Given the description of an element on the screen output the (x, y) to click on. 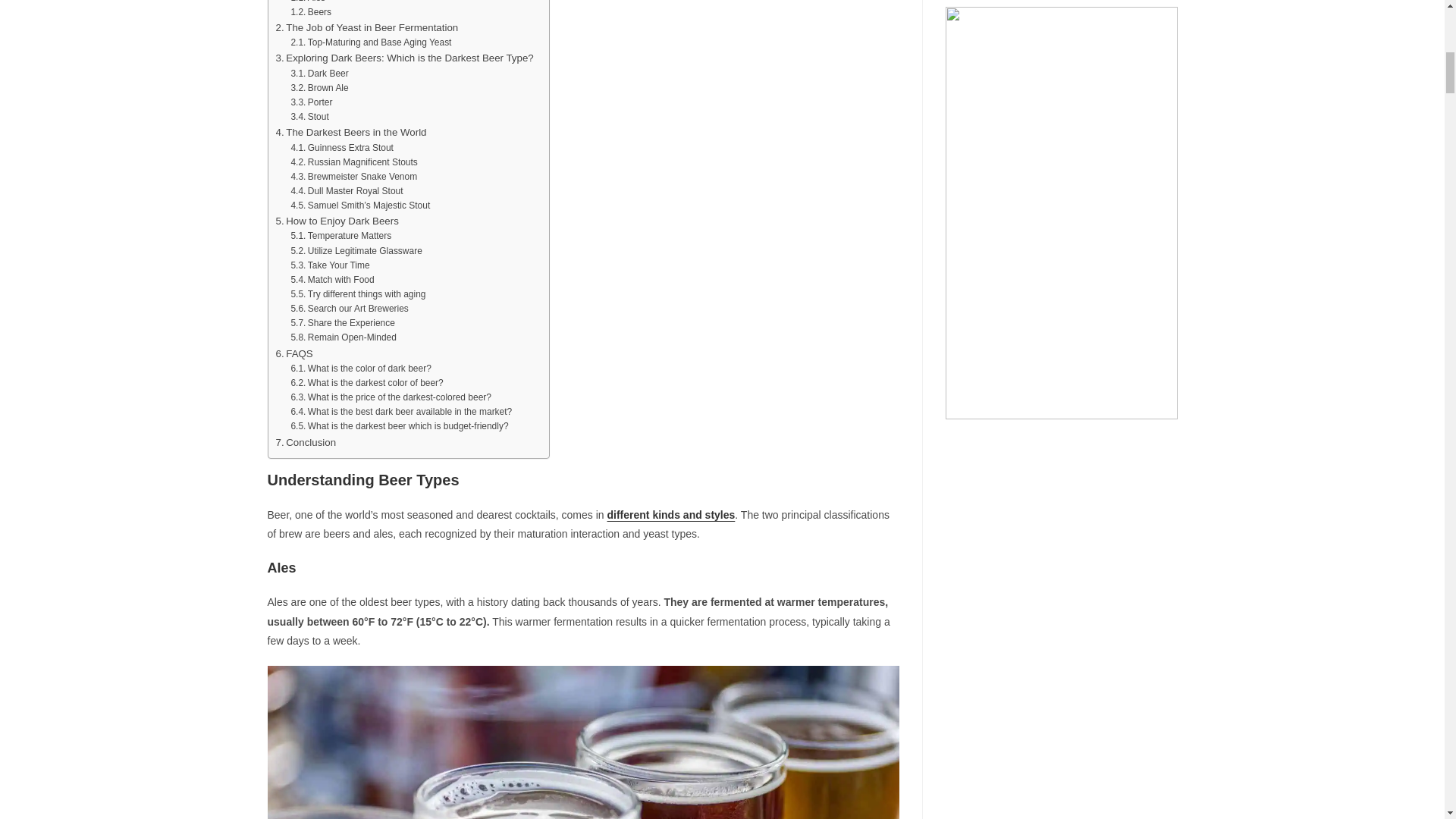
Stout (309, 116)
Stout (309, 116)
Exploring Dark Beers: Which is the Darkest Beer Type? (405, 57)
Brown Ale (318, 88)
Exploring Dark Beers: Which is the Darkest Beer Type? (405, 57)
The Job of Yeast in Beer Fermentation (367, 27)
Ales (306, 2)
Dark Beer (318, 73)
The Darkest Beers in the World (351, 132)
Brown Ale (318, 88)
